Given the description of an element on the screen output the (x, y) to click on. 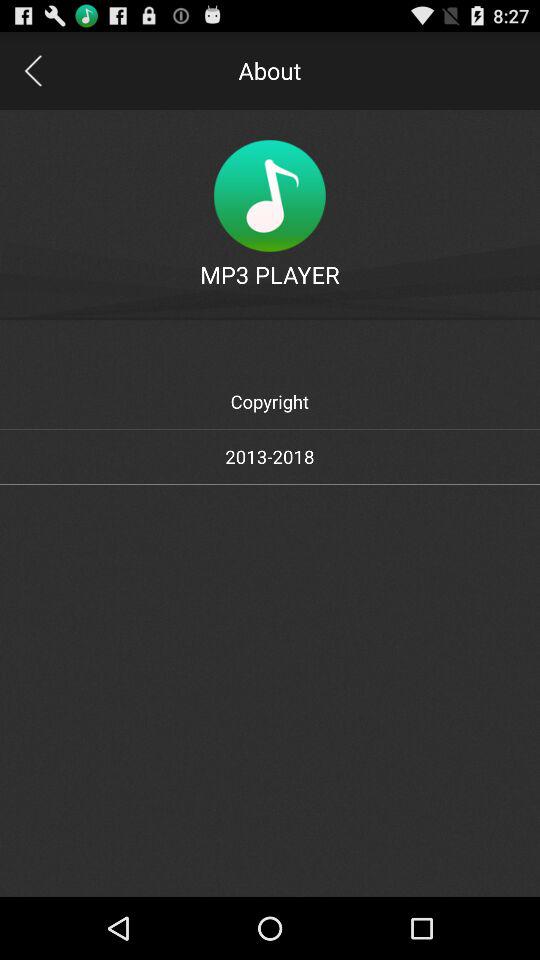
go back to the app (32, 70)
